Given the description of an element on the screen output the (x, y) to click on. 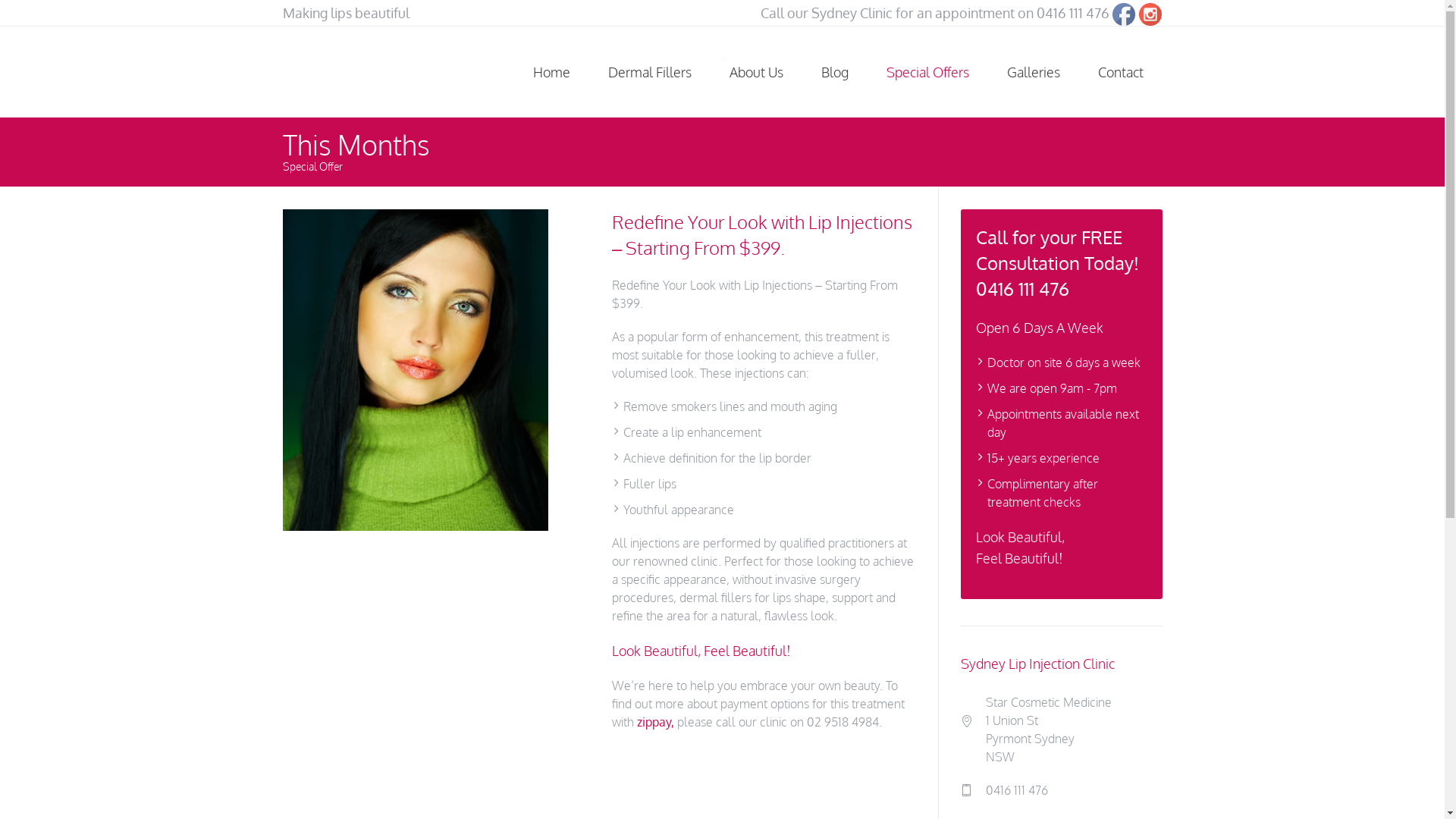
Contact Element type: text (1119, 71)
Instagram Element type: hover (1150, 14)
Blog Element type: text (834, 71)
0416 111 476 Element type: text (1072, 12)
About Us Element type: text (755, 71)
zippay, Element type: text (655, 721)
Dermal Fillers Element type: text (648, 71)
Home Element type: text (551, 71)
Special Offers Element type: text (927, 71)
Facebook Element type: hover (1123, 14)
Galleries Element type: text (1032, 71)
